Given the description of an element on the screen output the (x, y) to click on. 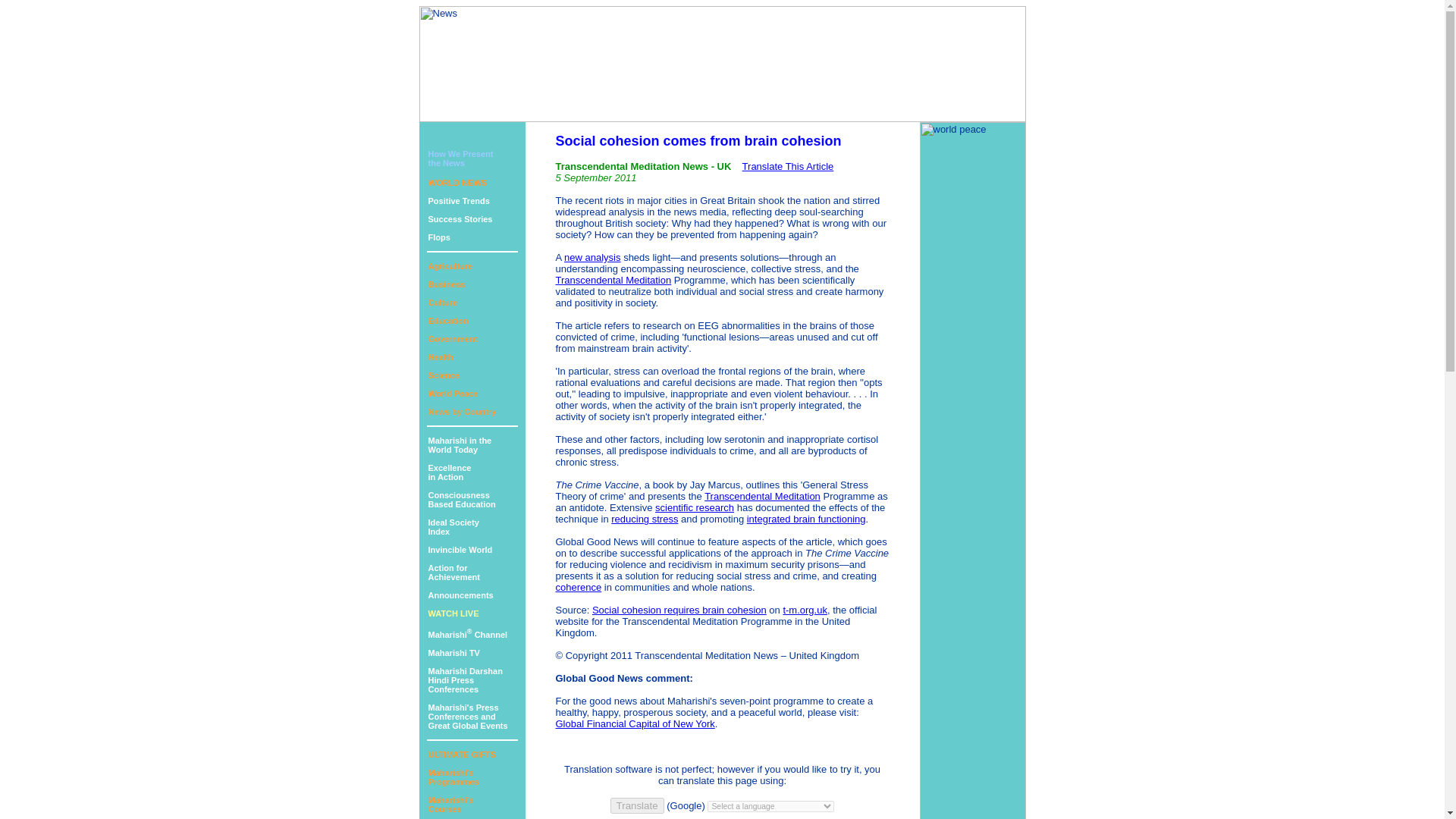
ULTIMATE GIFTS (461, 754)
Government (452, 338)
Business (467, 716)
Success Stories (453, 777)
WATCH LIVE (446, 284)
Invincible World (461, 499)
Flops (460, 218)
Education (453, 613)
Announcements (460, 549)
Agriculture (453, 526)
Translate (438, 236)
